Given the description of an element on the screen output the (x, y) to click on. 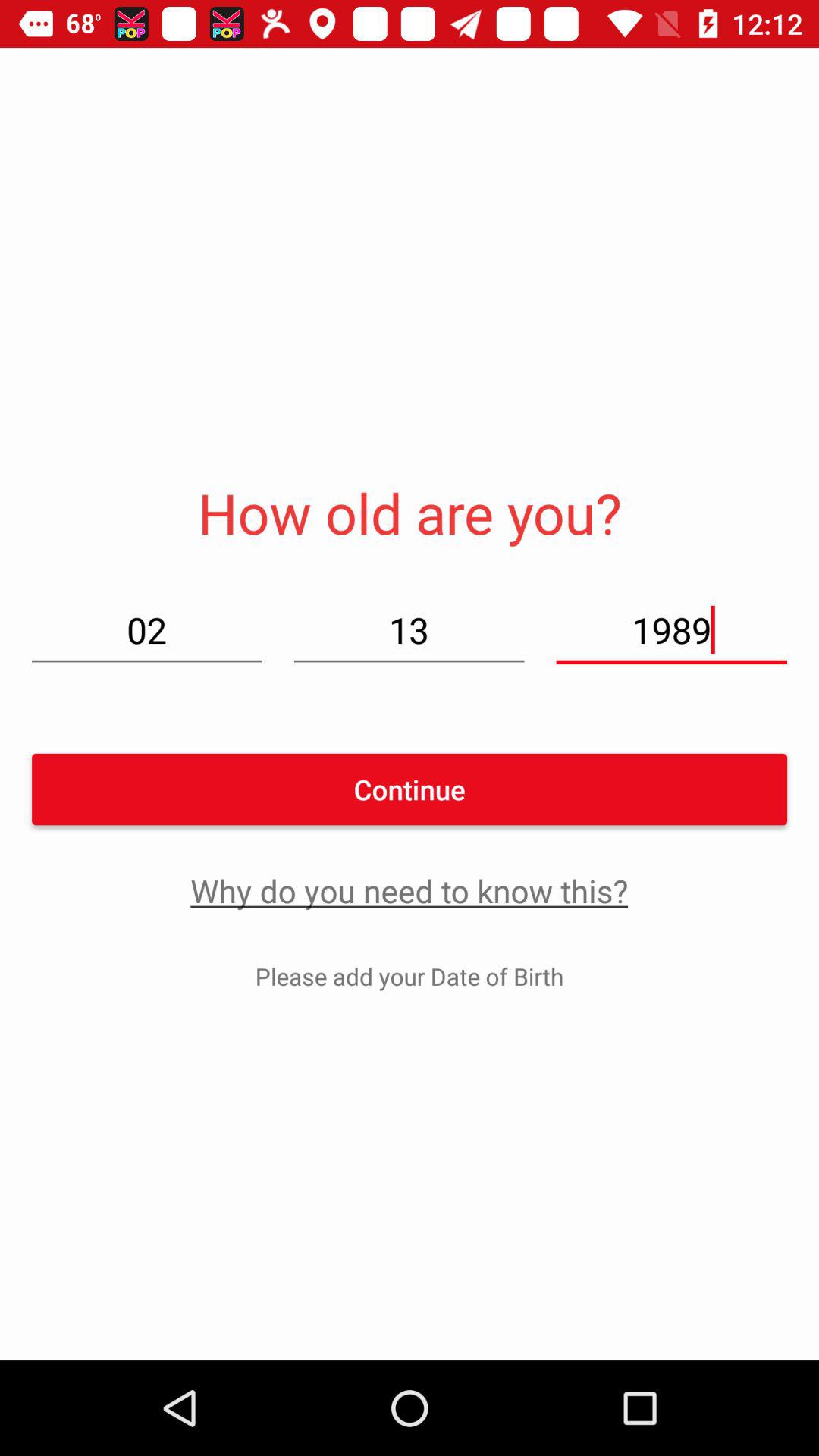
press item below the how old are (409, 629)
